Given the description of an element on the screen output the (x, y) to click on. 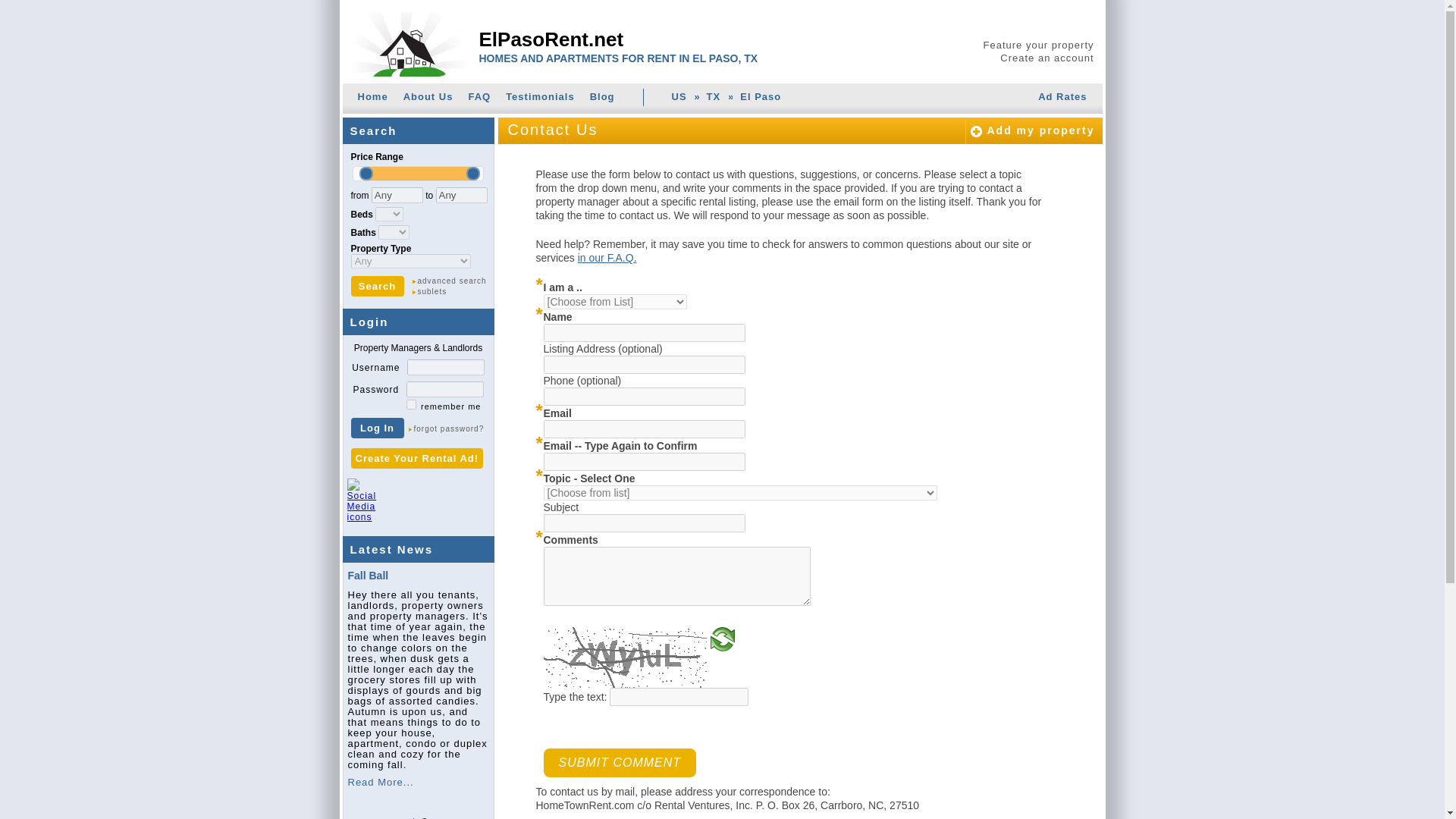
Read More... (380, 781)
City (760, 98)
Any (461, 195)
Pricing (1062, 98)
Ad Rates (1062, 98)
Advanced search (451, 281)
El Paso (760, 98)
Social Media icons (362, 500)
Testimonials (539, 98)
Sublets (451, 291)
Home (373, 98)
US (678, 98)
Home (373, 98)
in our F.A.Q. (607, 257)
Search (376, 286)
